Given the description of an element on the screen output the (x, y) to click on. 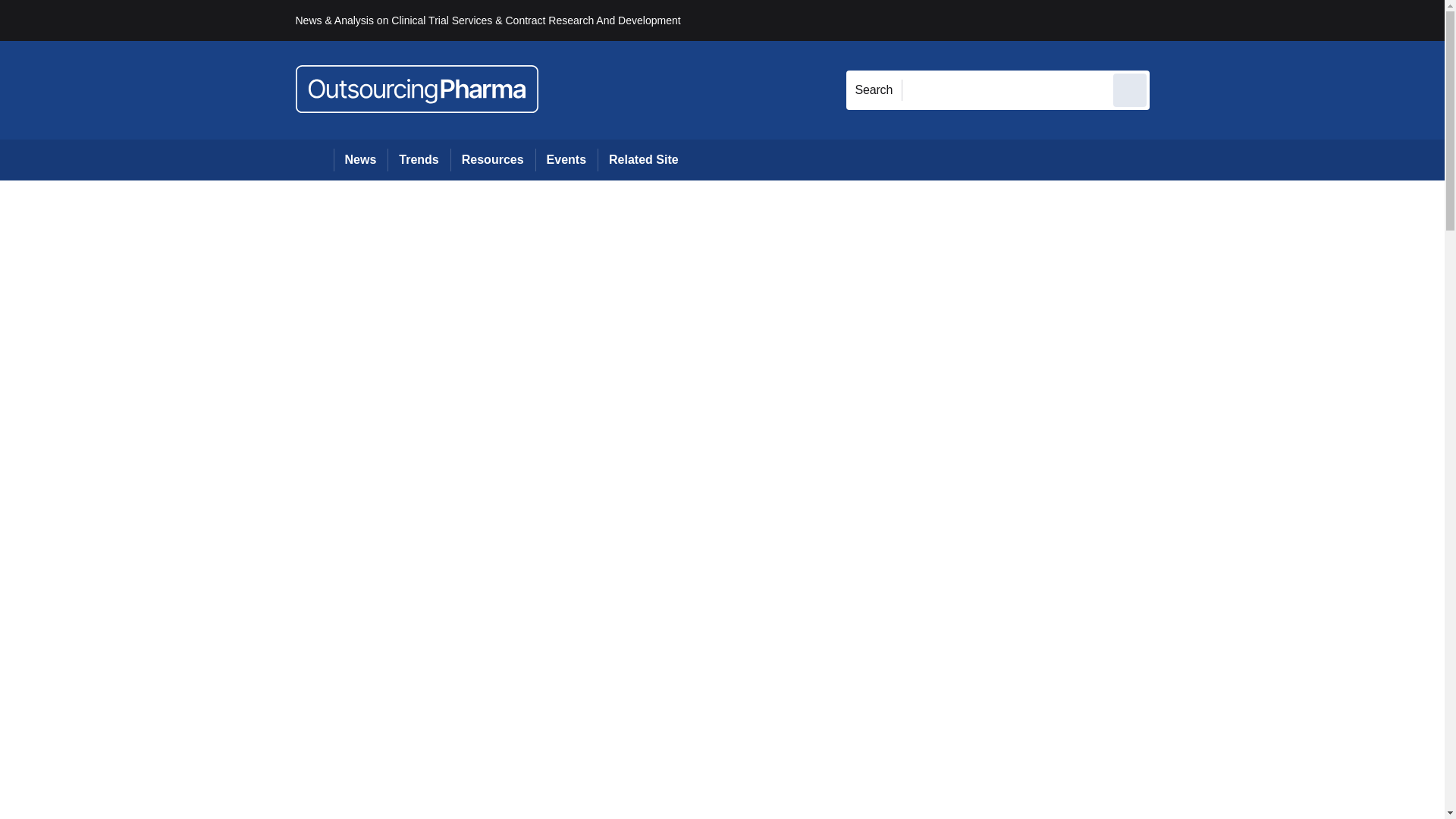
Send (1129, 90)
Sign in (1171, 20)
Resources (492, 159)
Send (1129, 89)
OutsourcingPharma (416, 89)
My account (1256, 20)
Home (313, 159)
News (360, 159)
Home (314, 159)
Trends (418, 159)
